Given the description of an element on the screen output the (x, y) to click on. 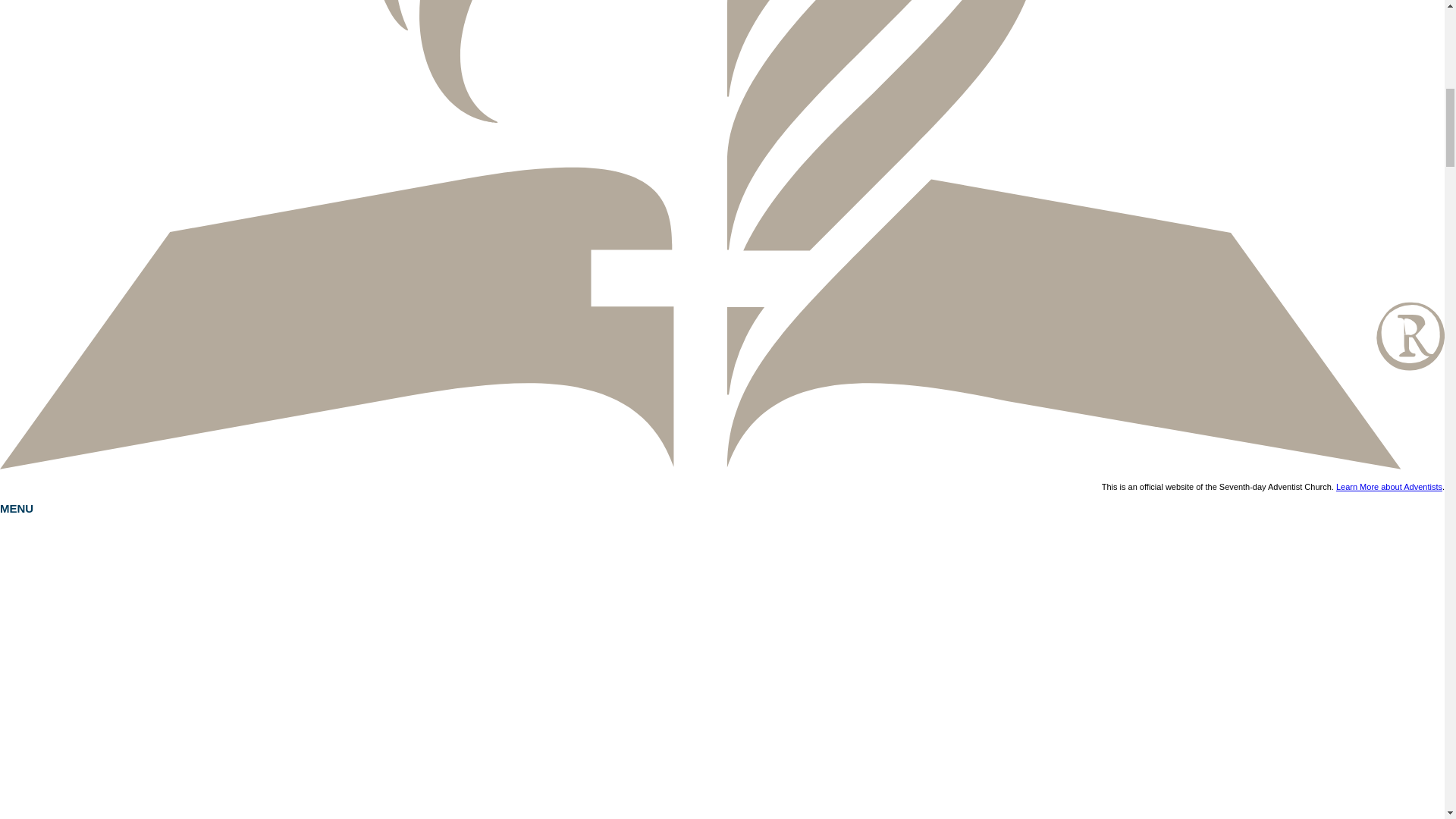
Learn More about Adventists (1389, 486)
